Given the description of an element on the screen output the (x, y) to click on. 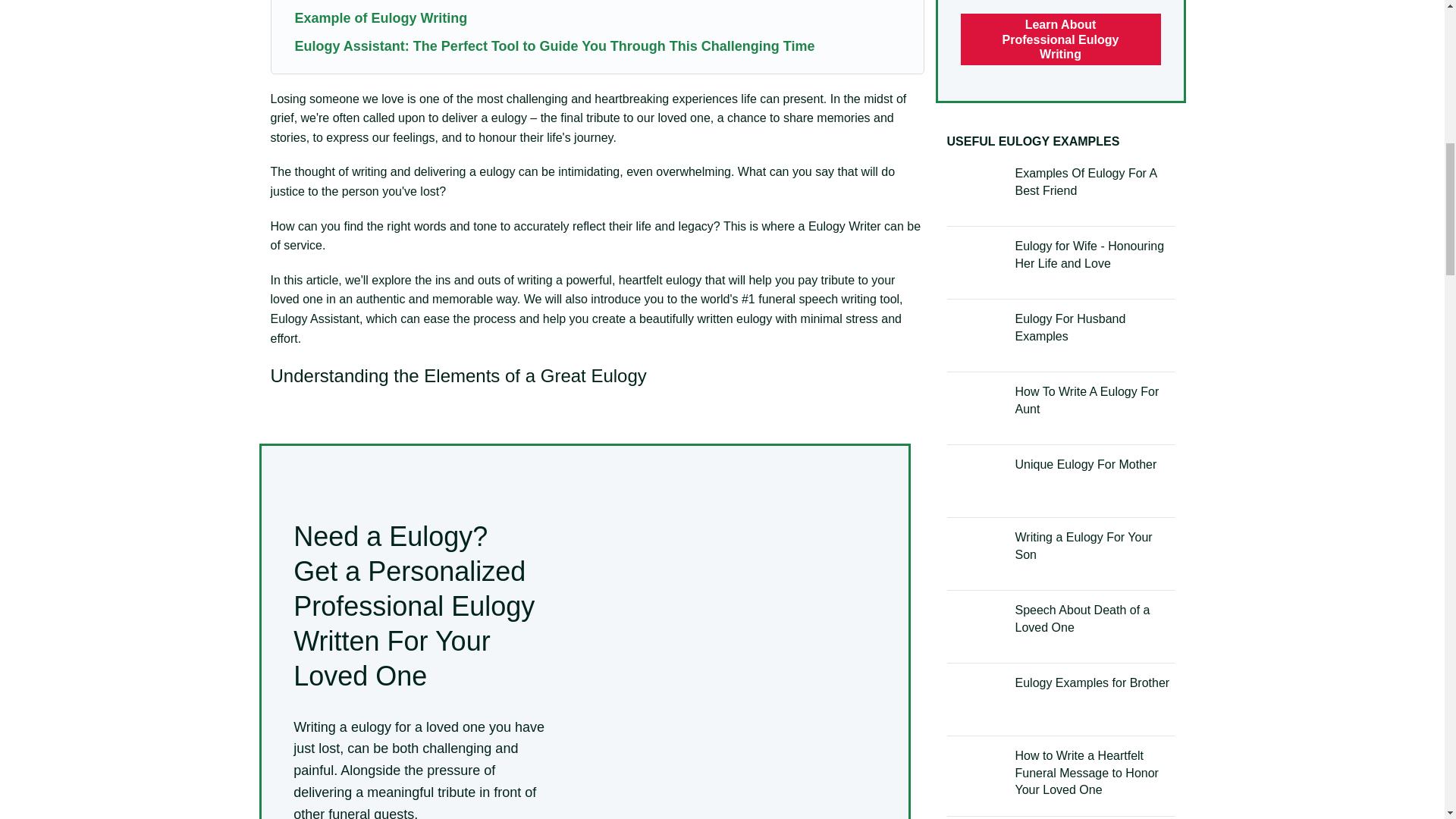
Permalink to Eulogy Examples for Brother (1091, 682)
Permalink to Eulogy for Wife - Honouring Her Life and Love (1088, 254)
Permalink to How To Write A Eulogy For Aunt (1086, 399)
Permalink to Examples Of Eulogy For A Best Friend (1085, 181)
Permalink to Eulogy For Husband Examples (1069, 327)
Permalink to Speech About Death of a Loved One (1082, 618)
Permalink to Writing a Eulogy For Your Son (1082, 545)
Eulogy Assistant (313, 318)
Permalink to Unique Eulogy For Mother (1085, 463)
Example of Eulogy Writing (380, 17)
